Given the description of an element on the screen output the (x, y) to click on. 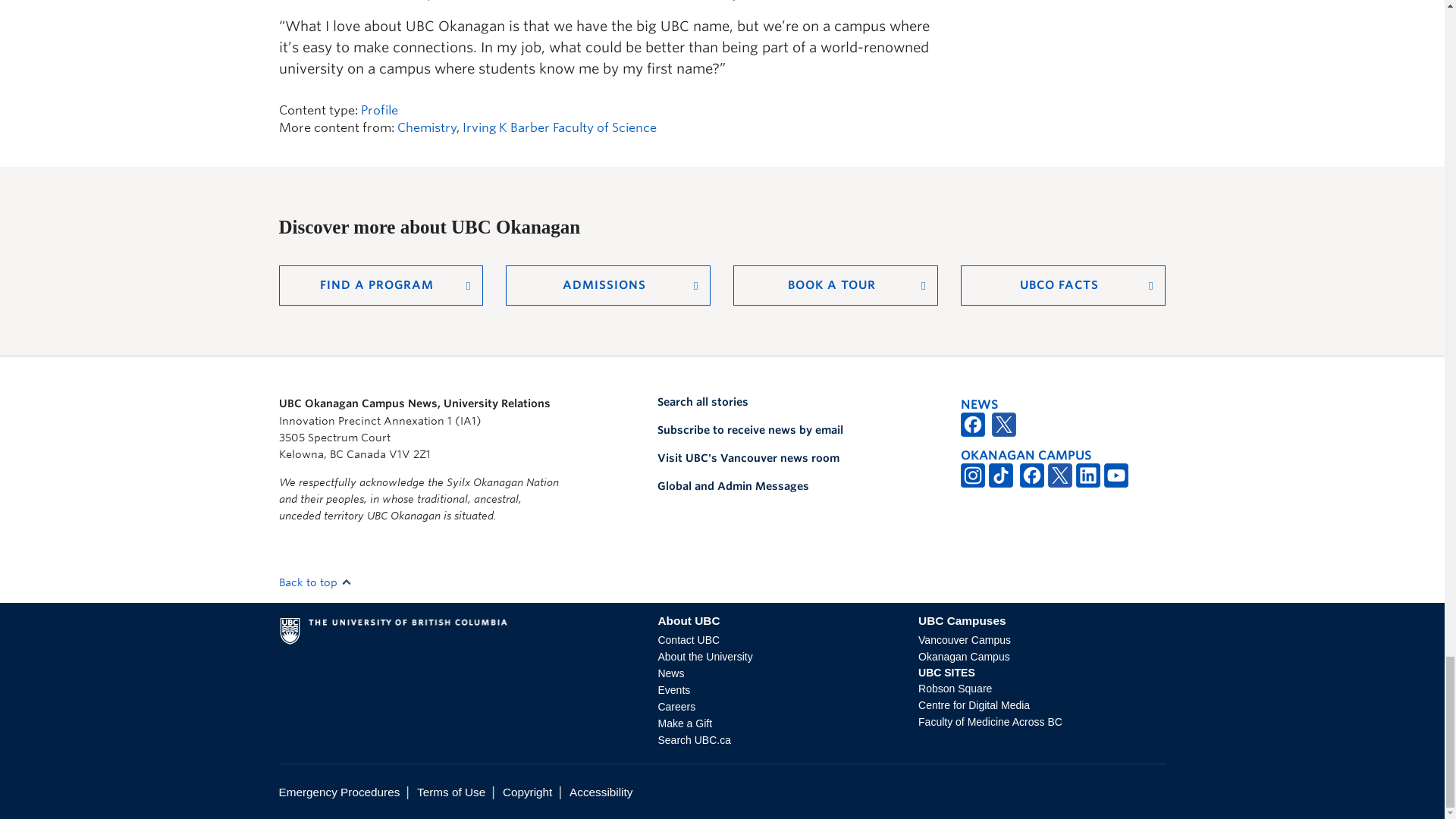
UBC Copyright (526, 791)
Back to top (315, 582)
Terms of Use (450, 791)
Emergency Procedures (339, 791)
Accessibility (600, 791)
